Given the description of an element on the screen output the (x, y) to click on. 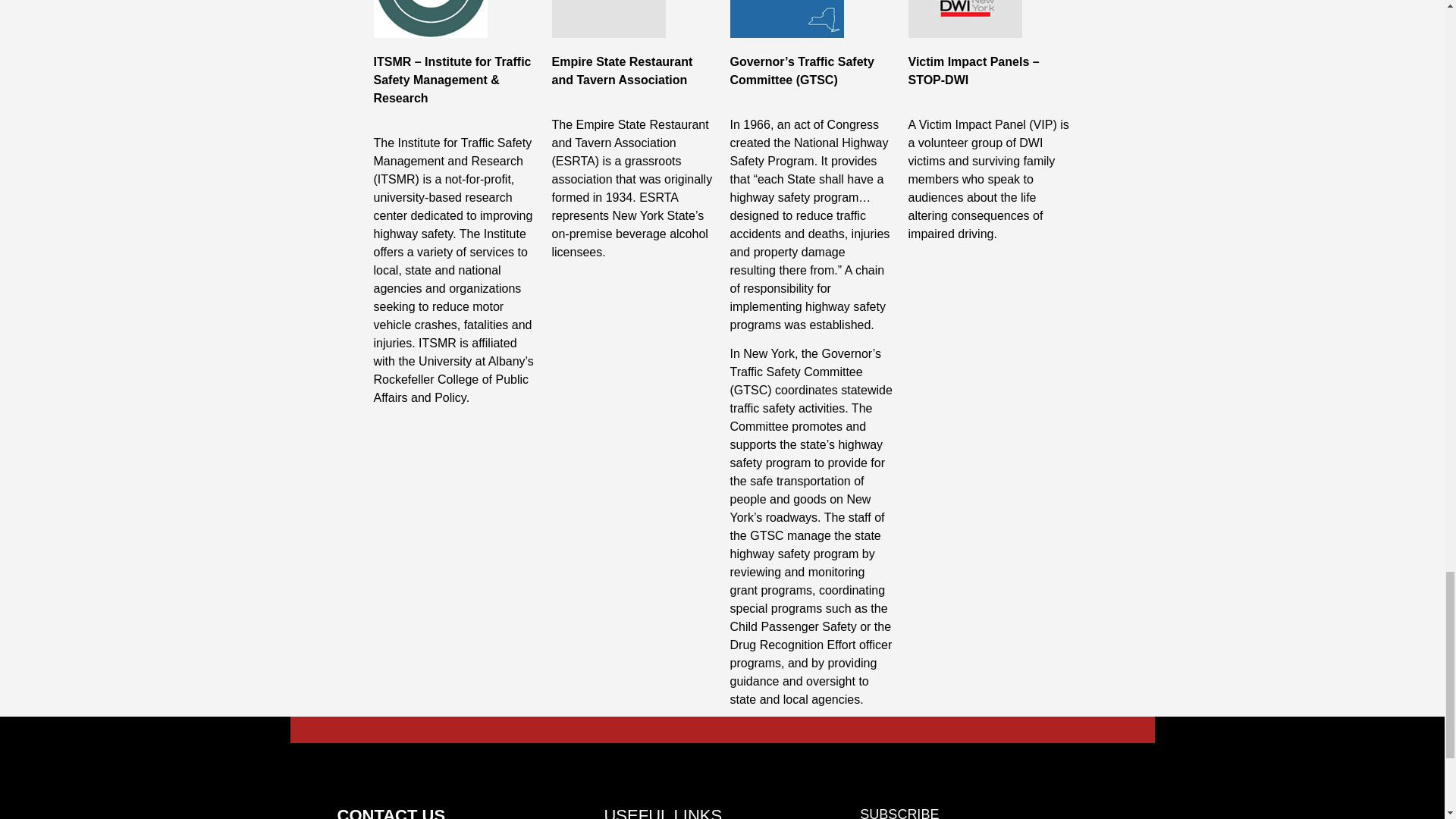
vip-stopdwi-logo (965, 18)
itsmr-logo (429, 18)
esrta-logo (608, 18)
